Given the description of an element on the screen output the (x, y) to click on. 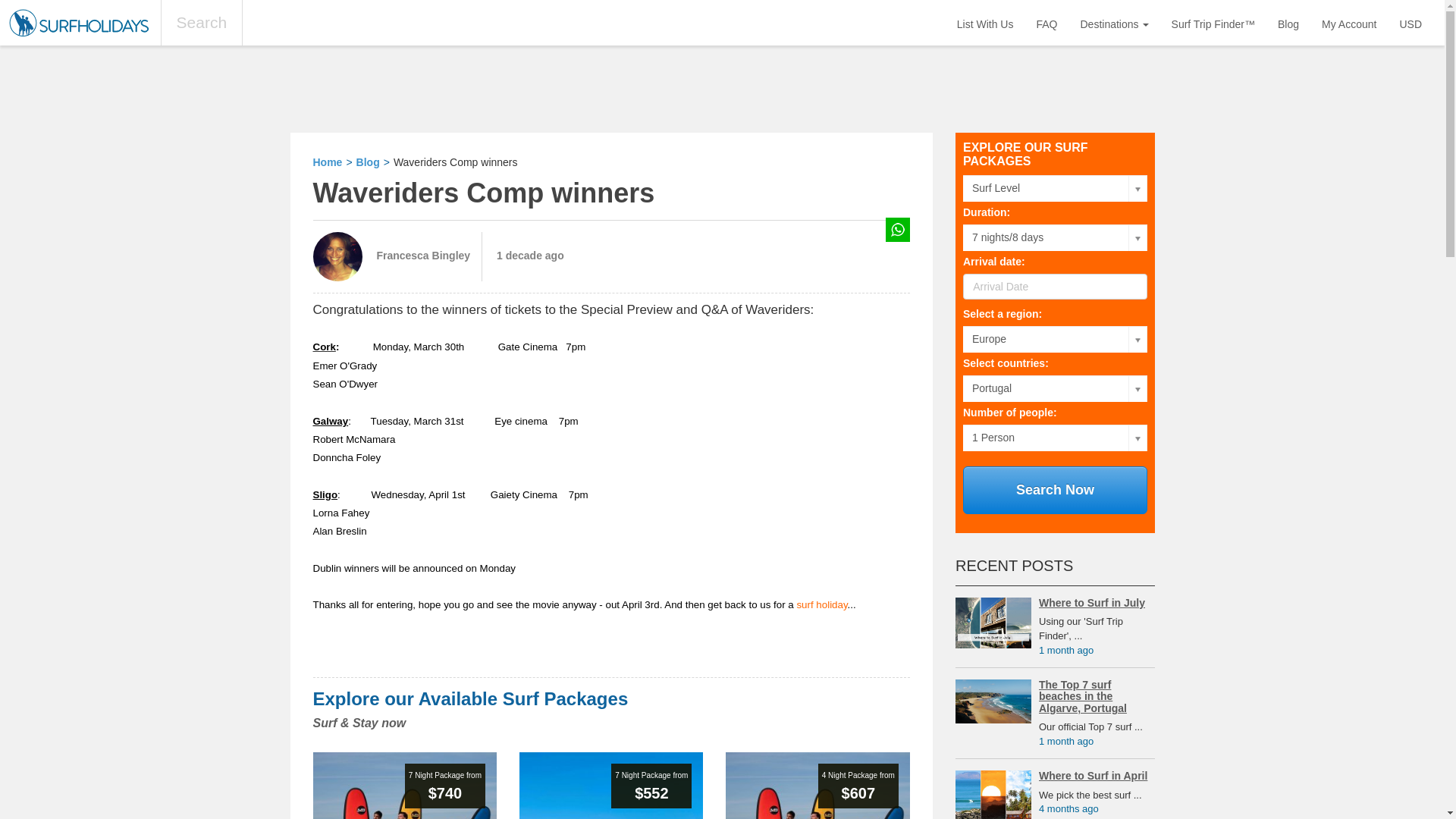
Best Week of Your Life (404, 785)
Surf Taster (816, 785)
FAQ (1046, 22)
List With Us (984, 22)
Destinations (1114, 22)
Search (201, 22)
